Given the description of an element on the screen output the (x, y) to click on. 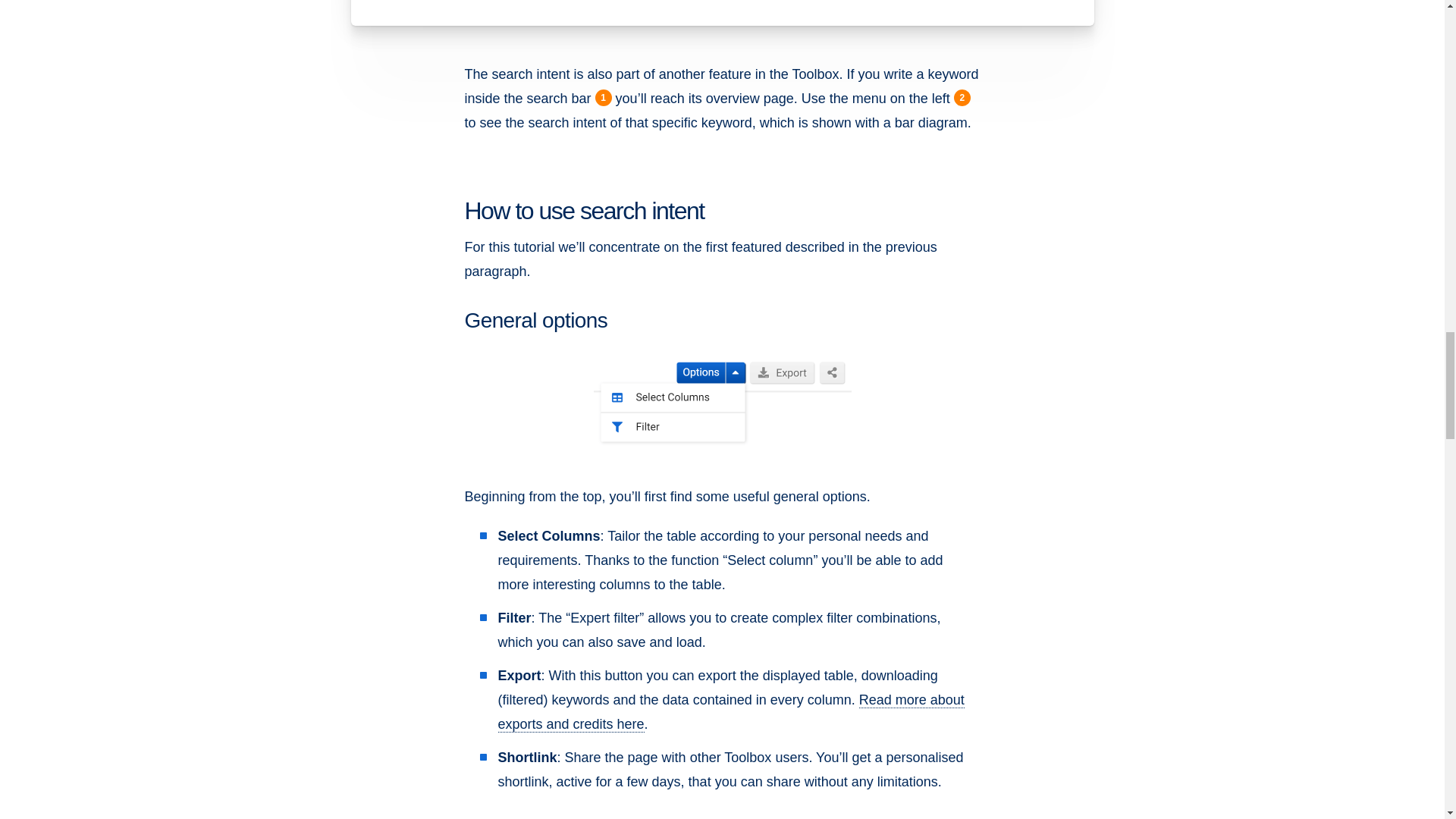
Read more about exports and credits here (730, 712)
